Given the description of an element on the screen output the (x, y) to click on. 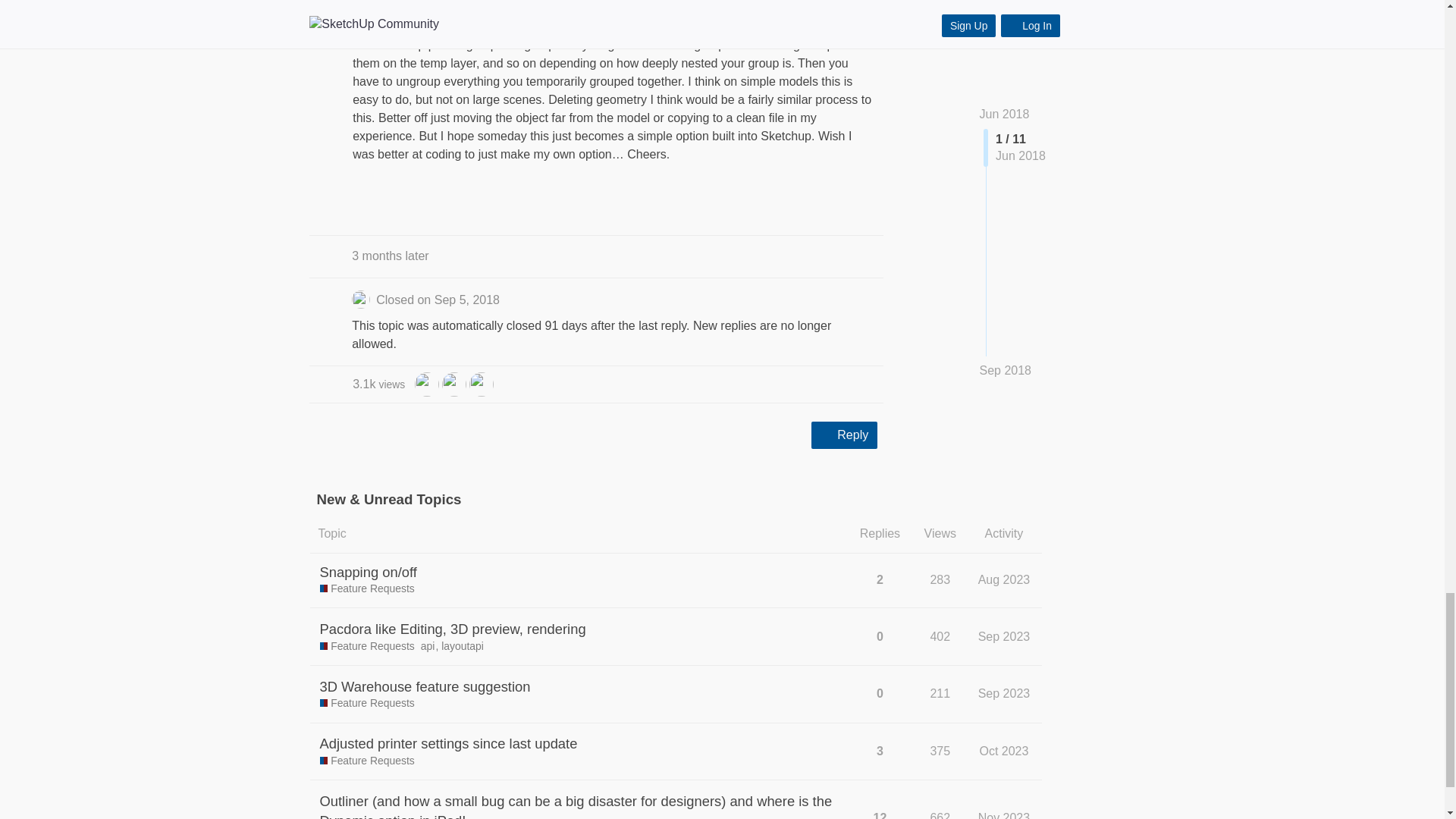
Dave (453, 384)
Jmartlncln (379, 384)
MikeWayzovski (426, 382)
DaveR (480, 386)
Jack de Moel (453, 386)
Jon Martin (480, 384)
